Given the description of an element on the screen output the (x, y) to click on. 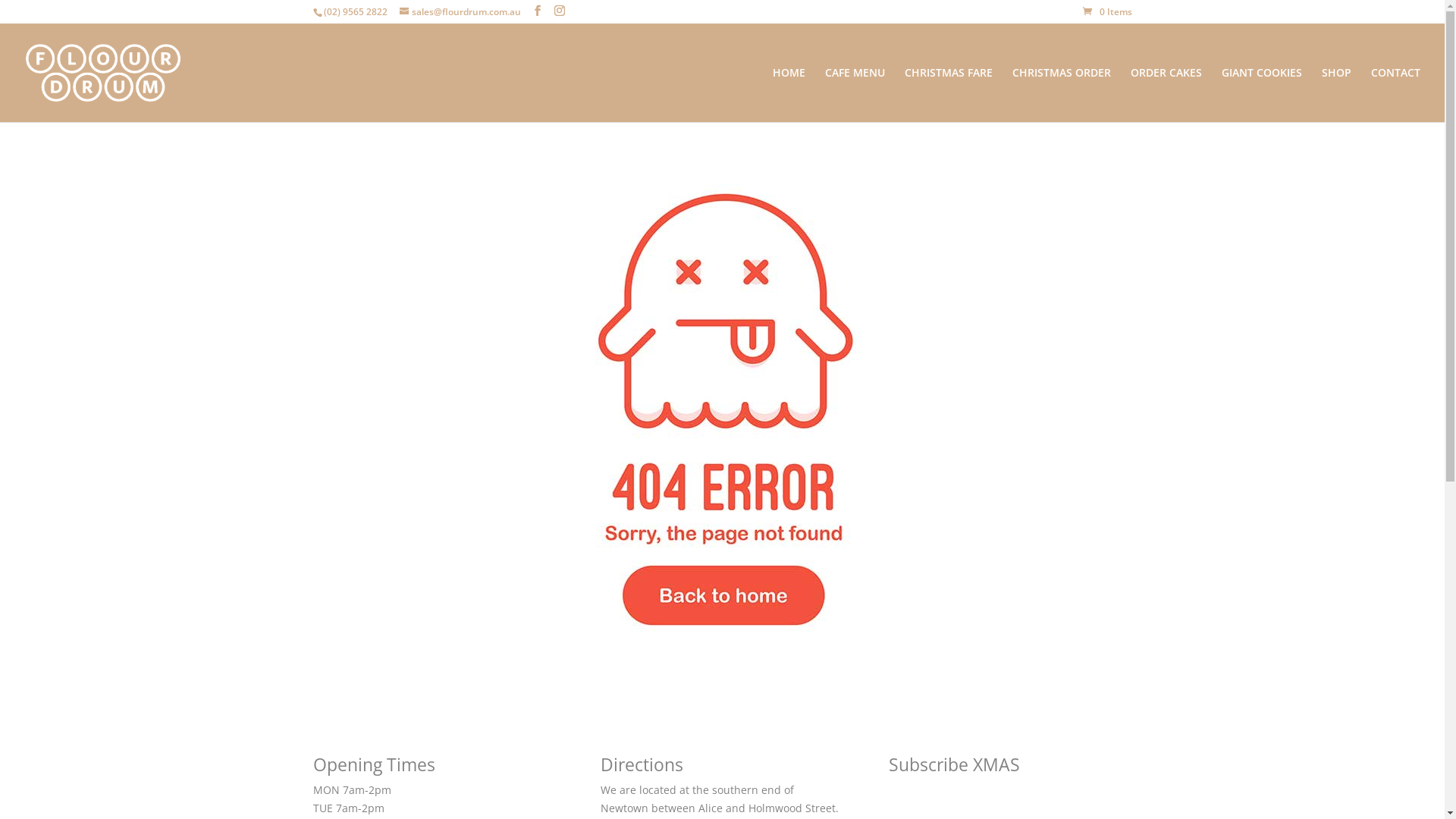
CONTACT Element type: text (1395, 94)
HOME Element type: text (788, 94)
CAFE MENU Element type: text (854, 94)
sales@flourdrum.com.au Element type: text (459, 11)
ORDER CAKES Element type: text (1165, 94)
0 Items Element type: text (1107, 11)
CHRISTMAS FARE Element type: text (948, 94)
CHRISTMAS ORDER Element type: text (1061, 94)
SHOP Element type: text (1336, 94)
GIANT COOKIES Element type: text (1261, 94)
